Given the description of an element on the screen output the (x, y) to click on. 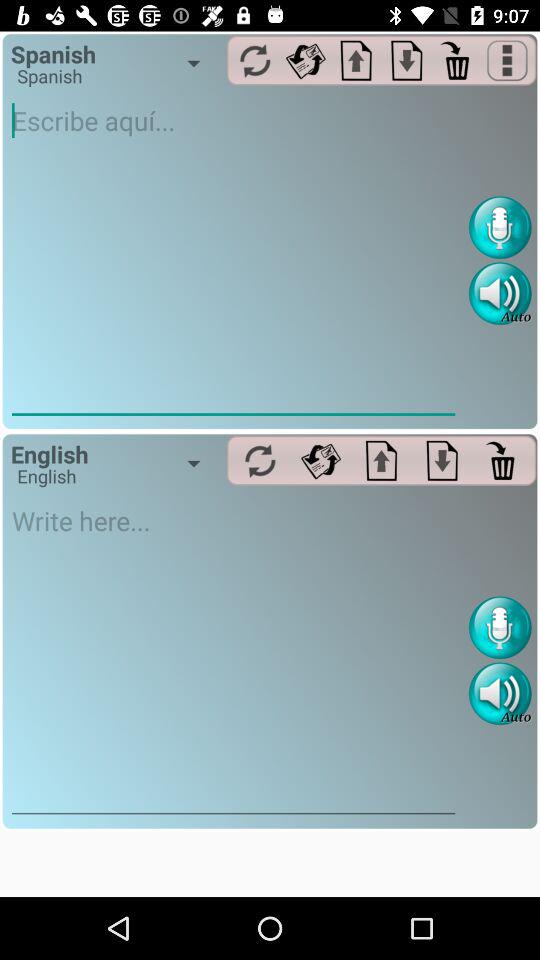
talk to microphone (499, 627)
